Given the description of an element on the screen output the (x, y) to click on. 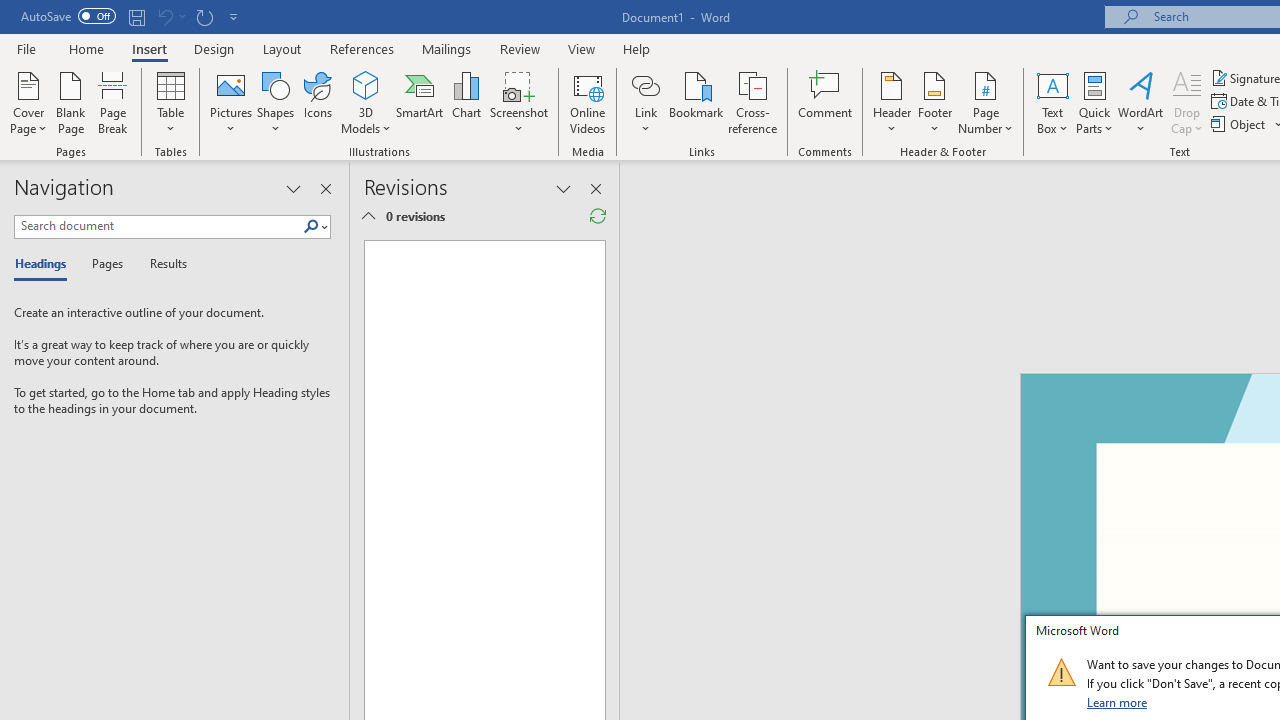
Can't Undo (170, 15)
Results (161, 264)
Quick Access Toolbar (131, 16)
Save (136, 15)
Insert (149, 48)
Text Box (1052, 102)
WordArt (1141, 102)
Table (170, 102)
Online Videos... (588, 102)
Footer (934, 102)
Page Break (113, 102)
Header (891, 102)
Design (214, 48)
Cross-reference... (752, 102)
Repeat Doc Close (204, 15)
